Given the description of an element on the screen output the (x, y) to click on. 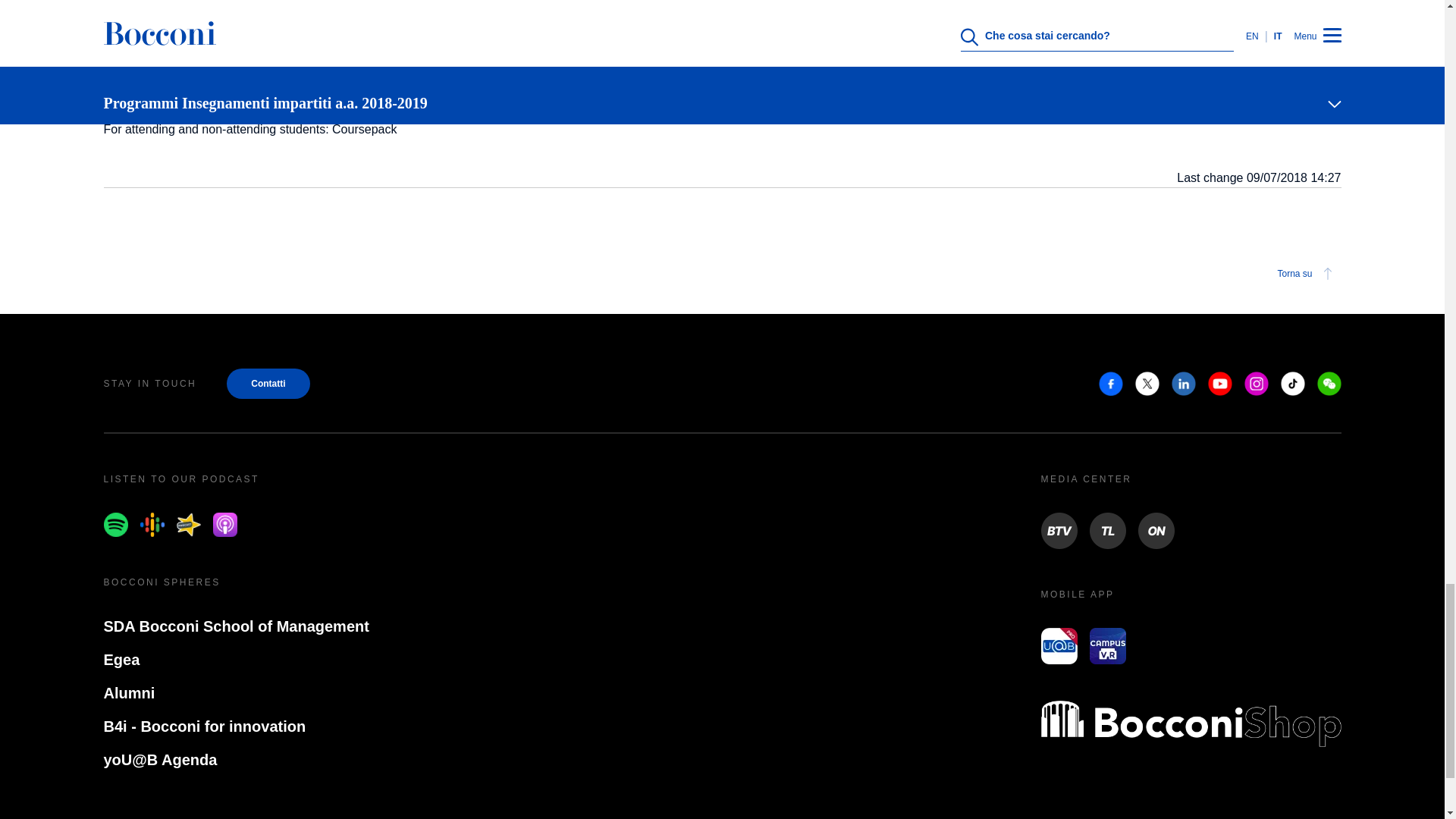
Spotify (115, 524)
Apple podcast (223, 524)
Instagram (1255, 383)
Google podcast (151, 524)
Facebook (1109, 383)
Youtube (1219, 383)
Spreaker (188, 524)
Torna su (1306, 273)
Weechat (1328, 383)
Torna su (721, 273)
Tiktok (1291, 383)
TL (1107, 530)
BTV (1059, 530)
Linkedin (1182, 383)
Twitter (1146, 383)
